Given the description of an element on the screen output the (x, y) to click on. 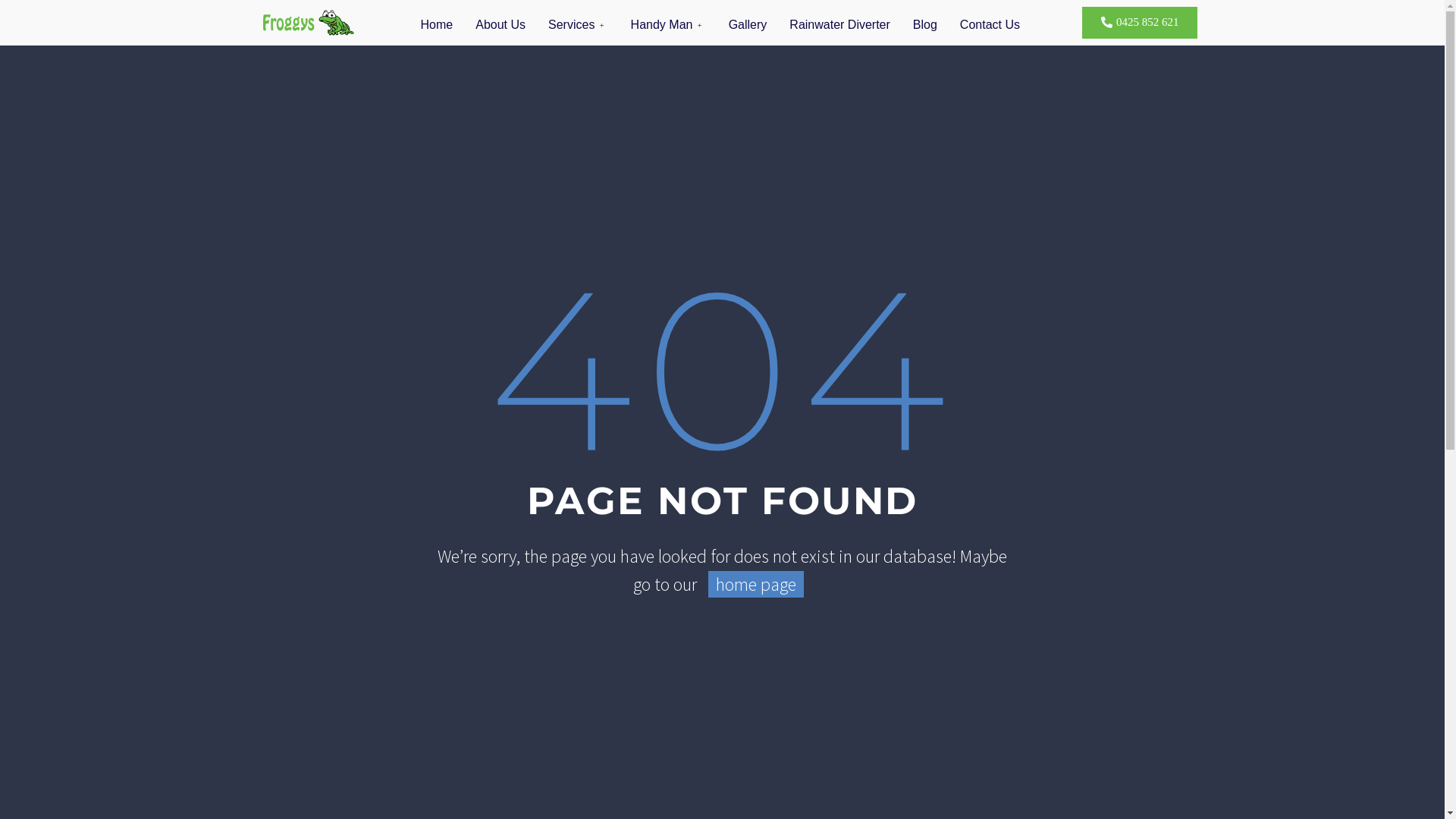
Handy Man Element type: text (668, 24)
Services Element type: text (577, 24)
Rainwater Diverter Element type: text (839, 24)
0425 852 621 Element type: text (1140, 22)
Blog Element type: text (924, 24)
About Us Element type: text (500, 24)
Gallery Element type: text (747, 24)
Home Element type: text (436, 24)
Contact Us Element type: text (989, 24)
home page Element type: text (755, 584)
